Given the description of an element on the screen output the (x, y) to click on. 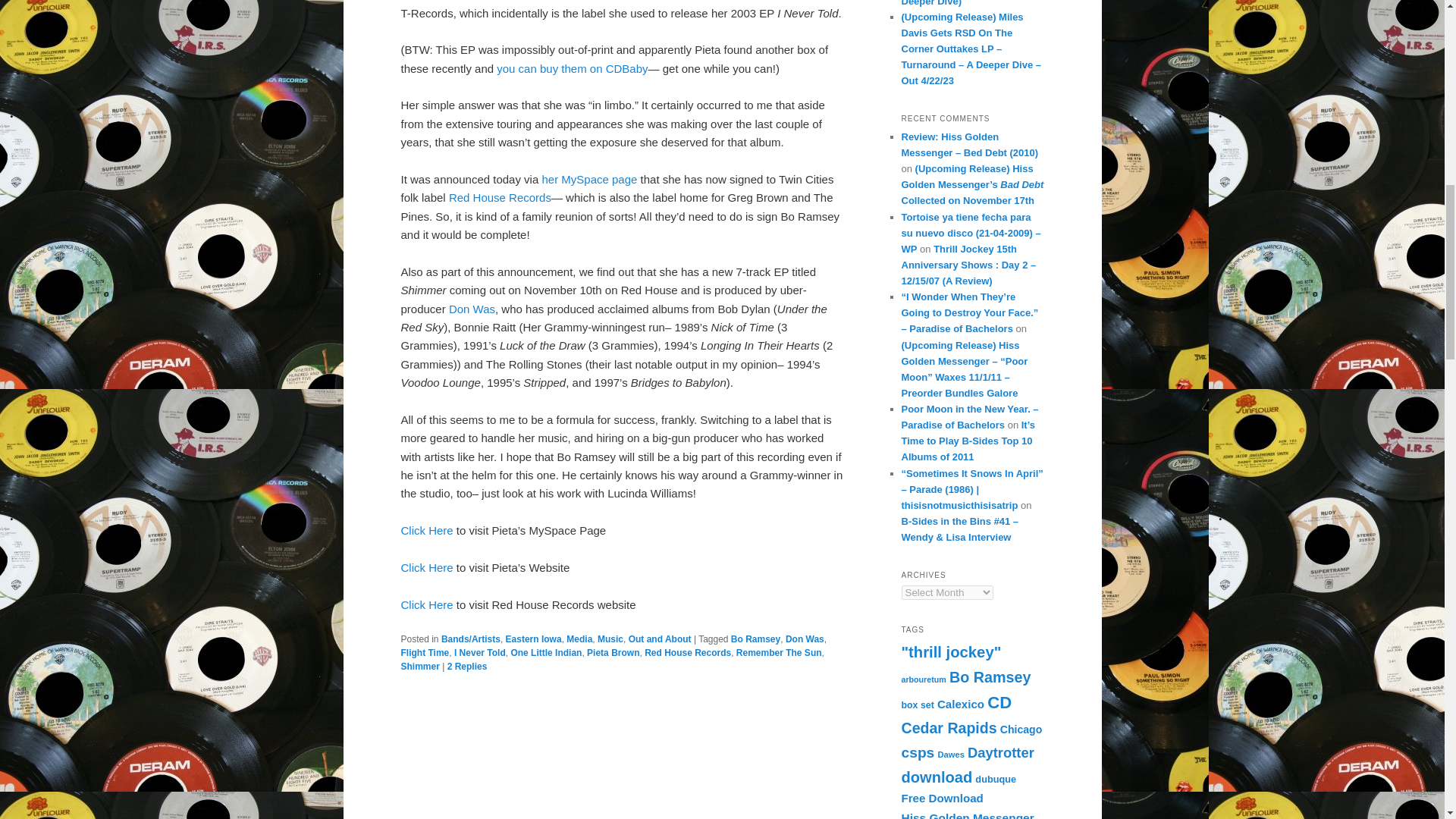
2 Replies (466, 665)
her MySpace page (590, 178)
Flight Time (424, 652)
Bo Ramsey (755, 638)
Don Was (805, 638)
Eastern Iowa (533, 638)
Don Was (471, 308)
Click Here (426, 530)
Red House Records (687, 652)
